Given the description of an element on the screen output the (x, y) to click on. 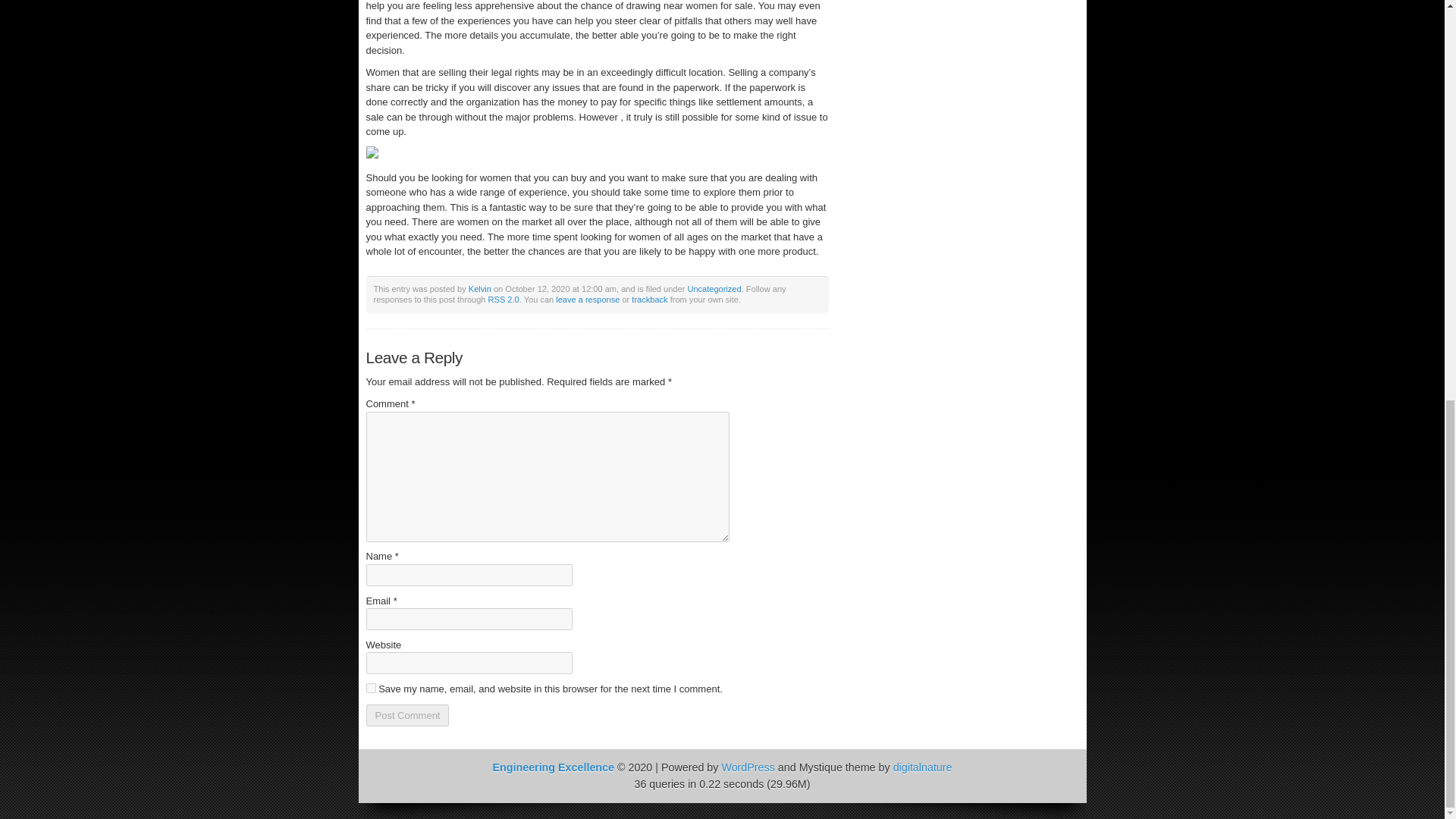
digitalnature (922, 767)
Posts by Kelvin  (480, 288)
Engineering Excellence (553, 767)
RSS 2.0 (503, 298)
RSS 2.0 (503, 298)
Post Comment (406, 715)
Kelvin (480, 288)
Uncategorized (714, 288)
trackback (648, 298)
yes (370, 687)
